Given the description of an element on the screen output the (x, y) to click on. 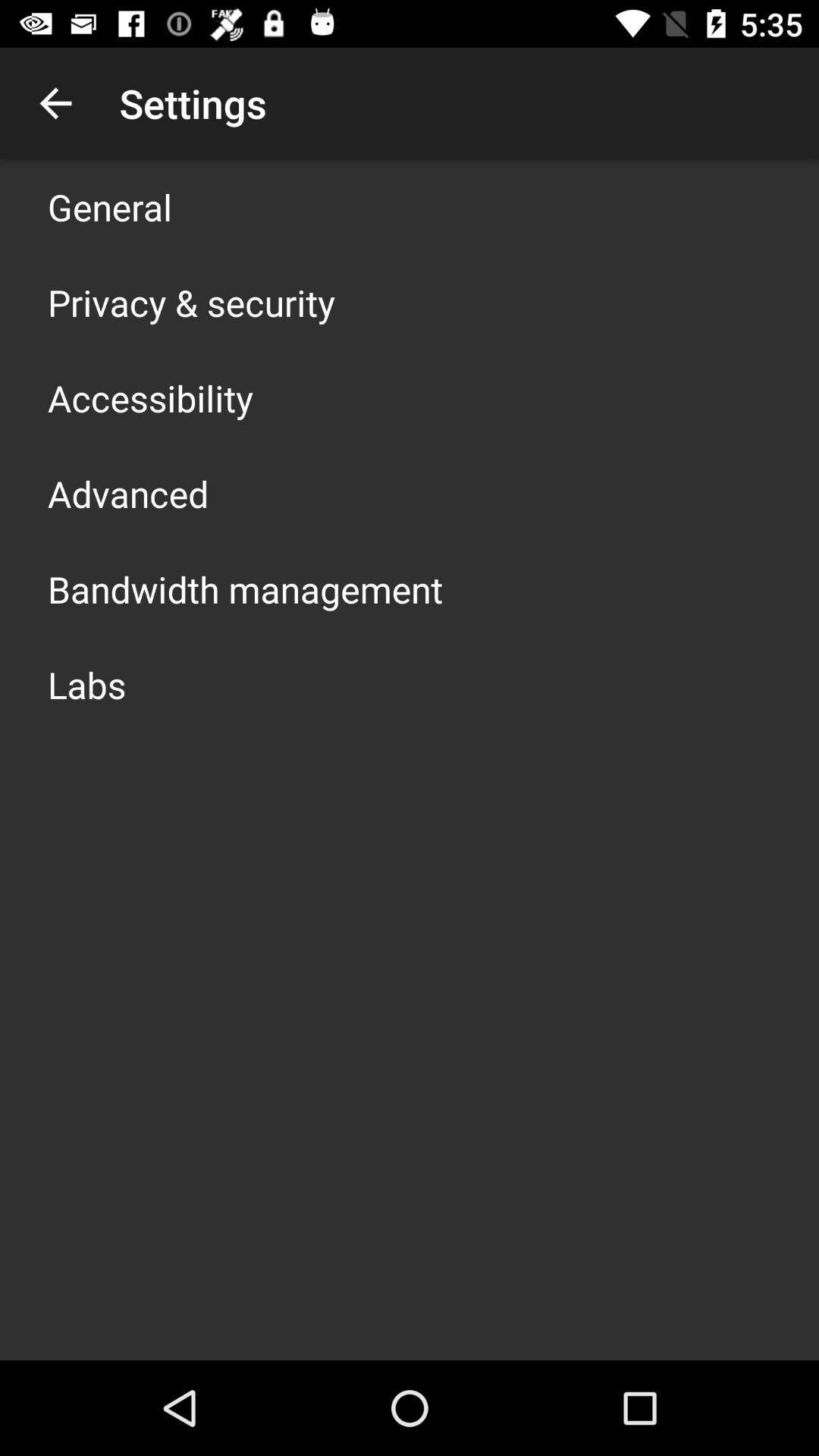
swipe until accessibility icon (150, 397)
